Given the description of an element on the screen output the (x, y) to click on. 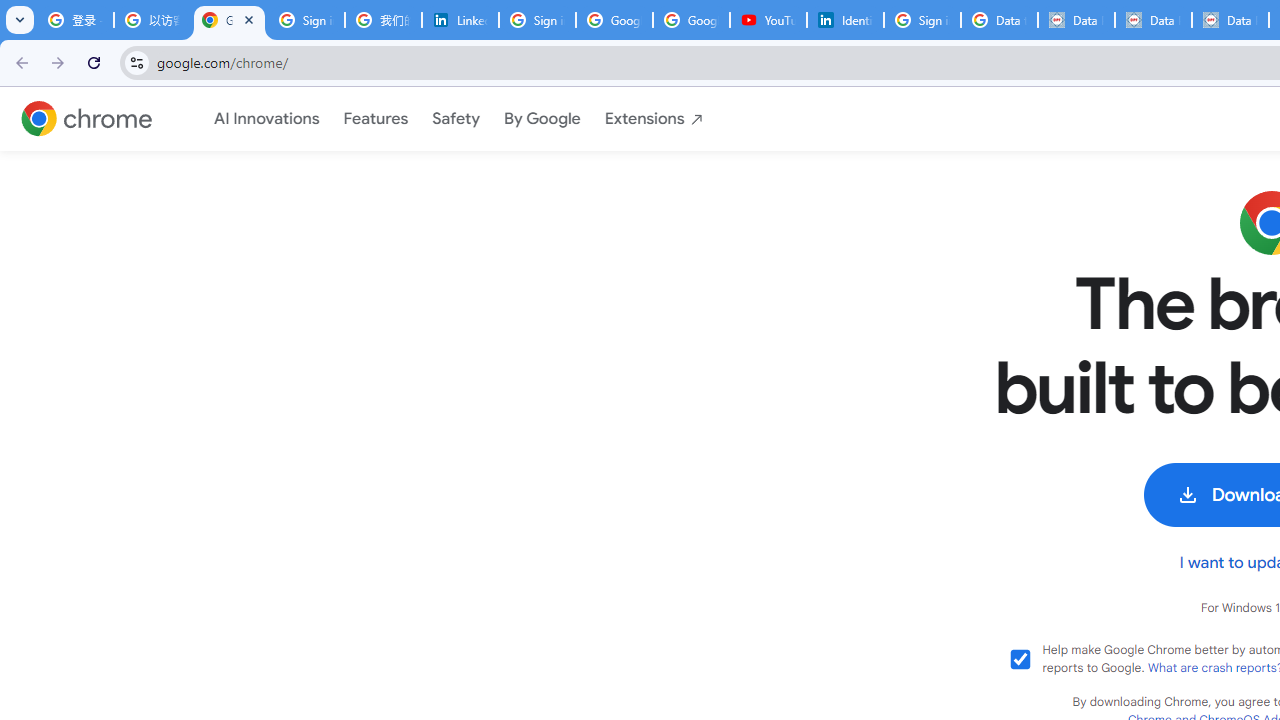
Data Privacy Framework (1076, 20)
Sign in - Google Accounts (306, 20)
safety (455, 118)
features (376, 119)
extensions (653, 118)
ai innovations (266, 118)
features (376, 118)
